Given the description of an element on the screen output the (x, y) to click on. 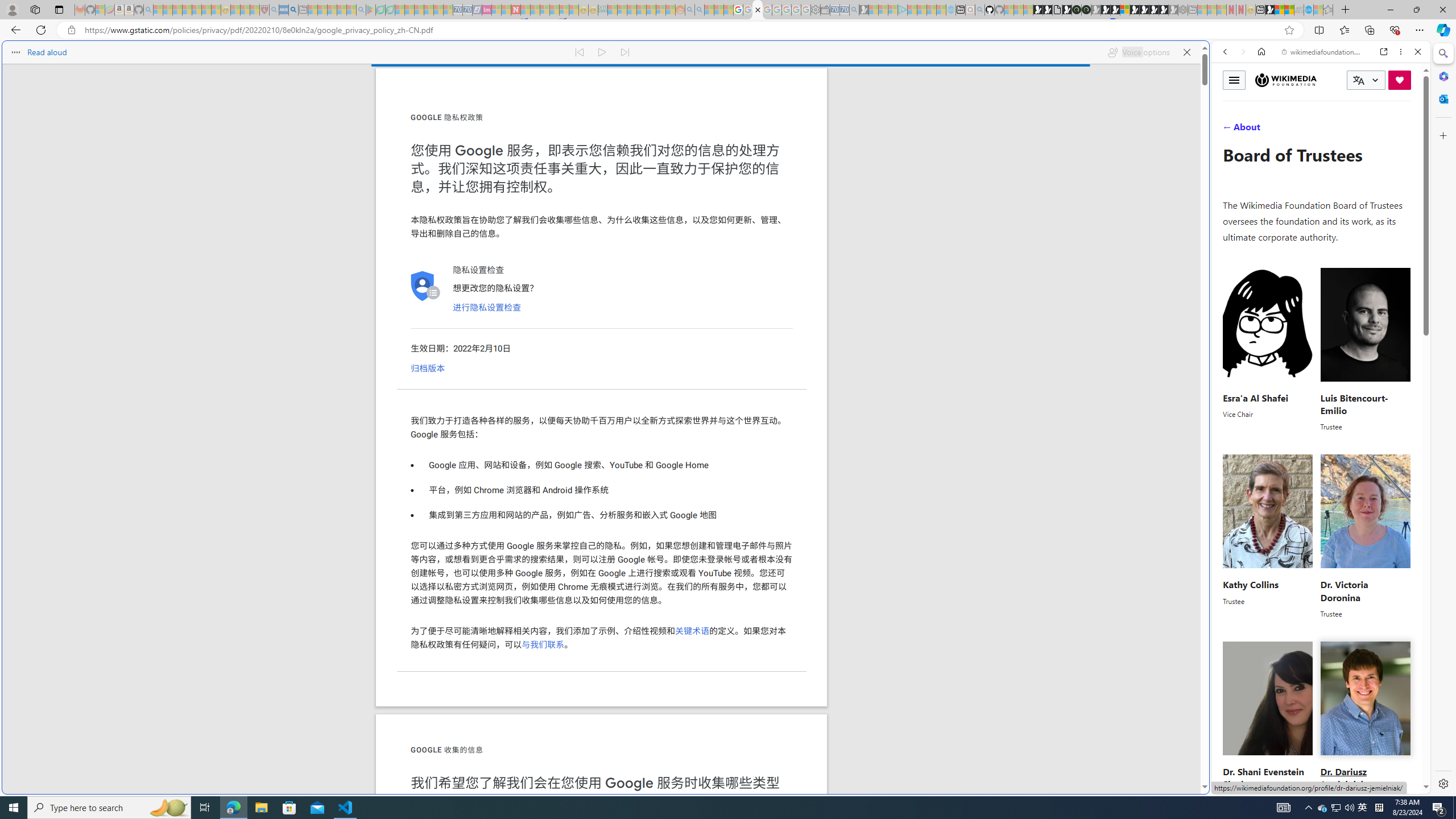
Kathy Collins (1250, 584)
Esra'a Al Shafei (1254, 397)
